Given the description of an element on the screen output the (x, y) to click on. 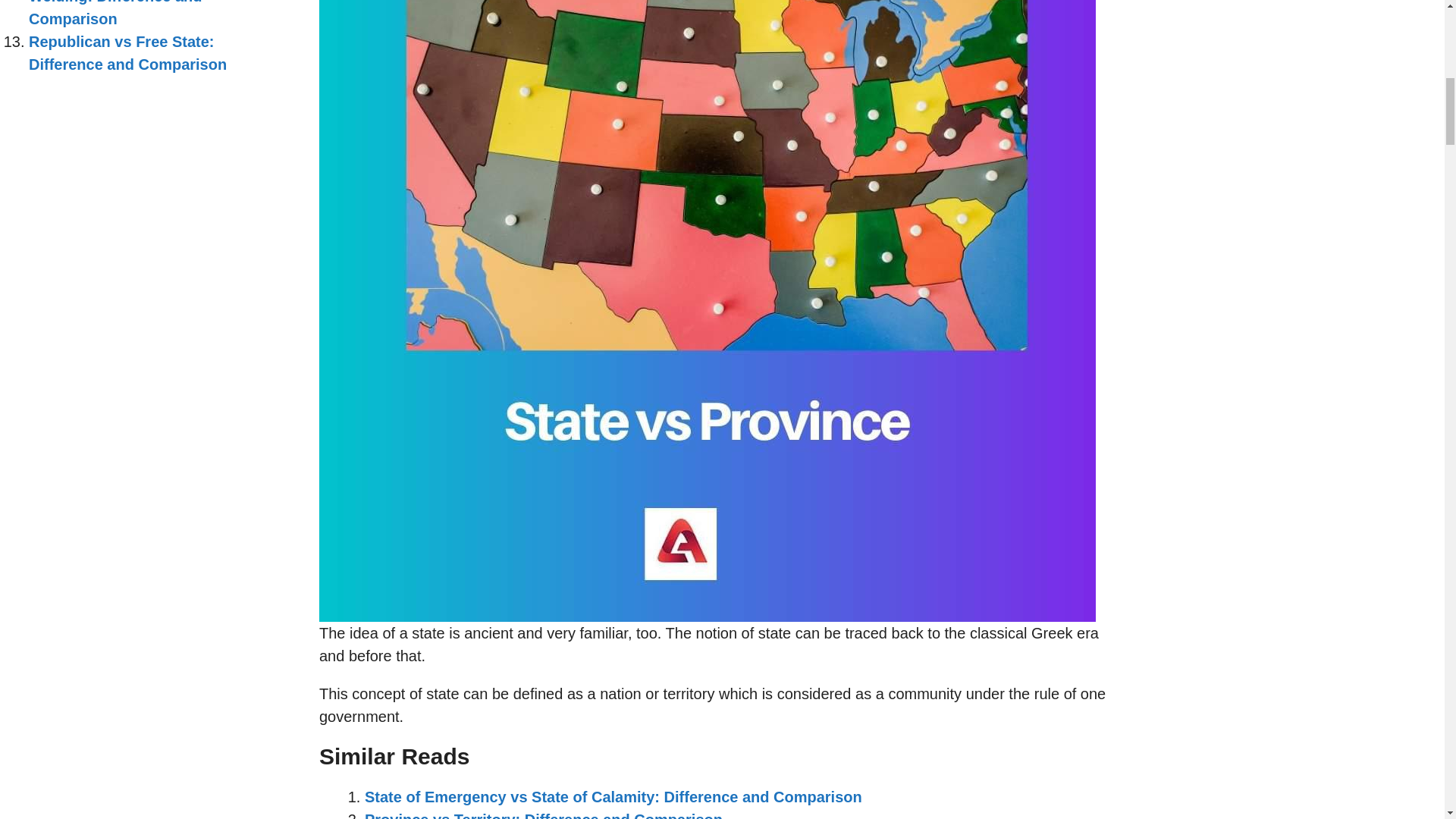
Province vs Territory: Difference and Comparison (543, 815)
